Given the description of an element on the screen output the (x, y) to click on. 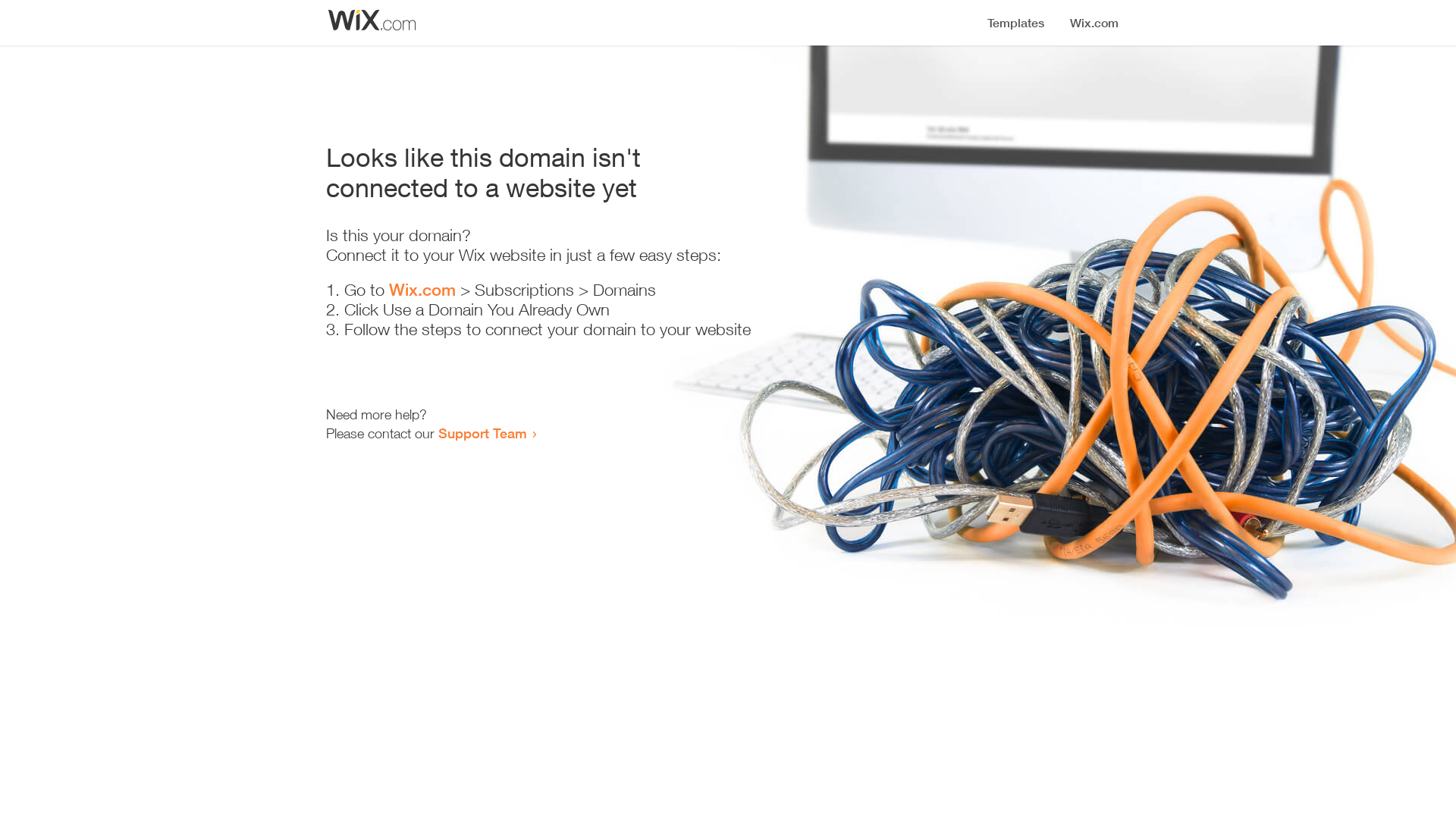
Wix.com Element type: text (422, 289)
Support Team Element type: text (482, 432)
